Given the description of an element on the screen output the (x, y) to click on. 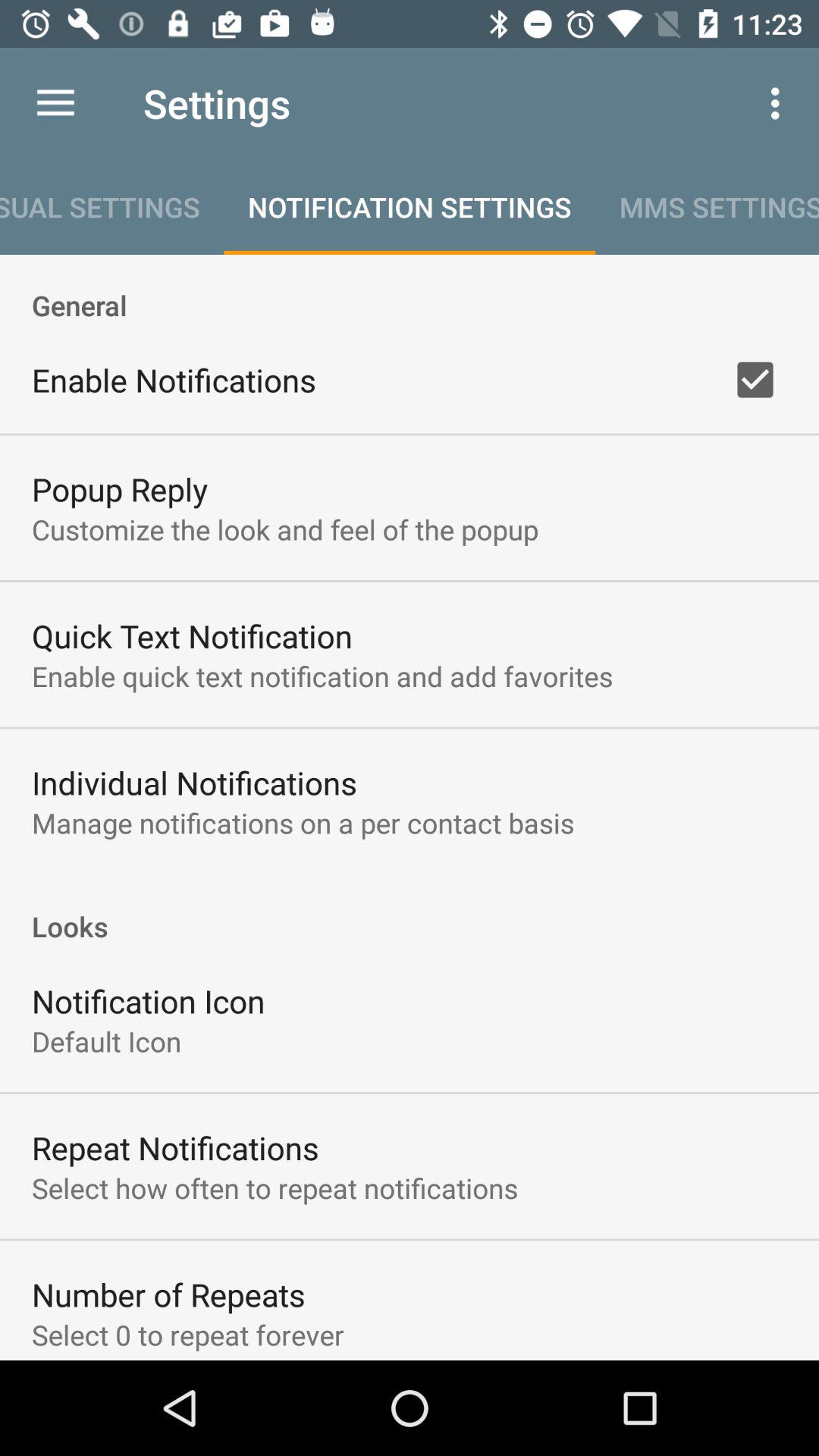
tap icon next to enable notifications icon (755, 379)
